Given the description of an element on the screen output the (x, y) to click on. 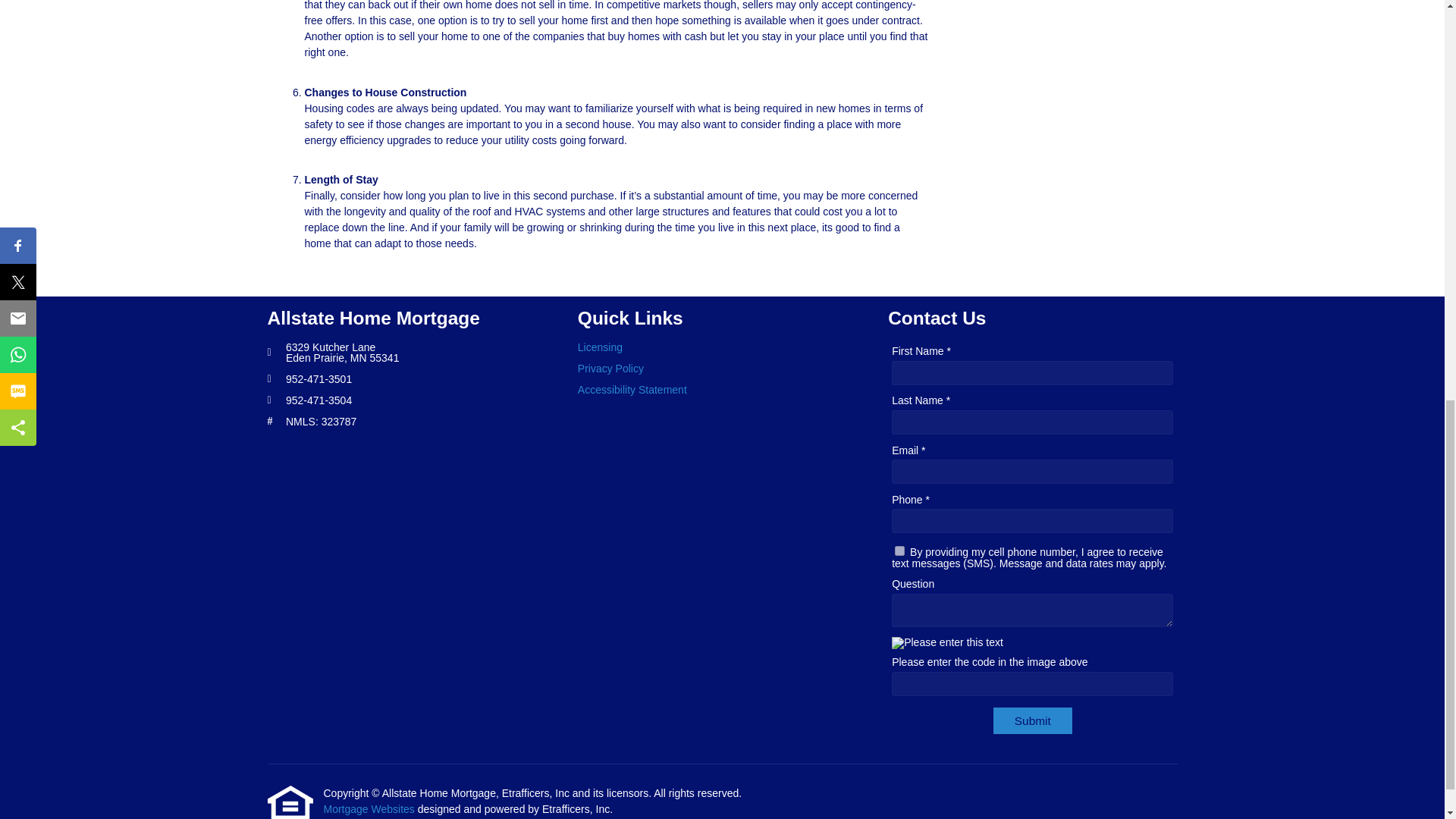
yes (899, 551)
